Given the description of an element on the screen output the (x, y) to click on. 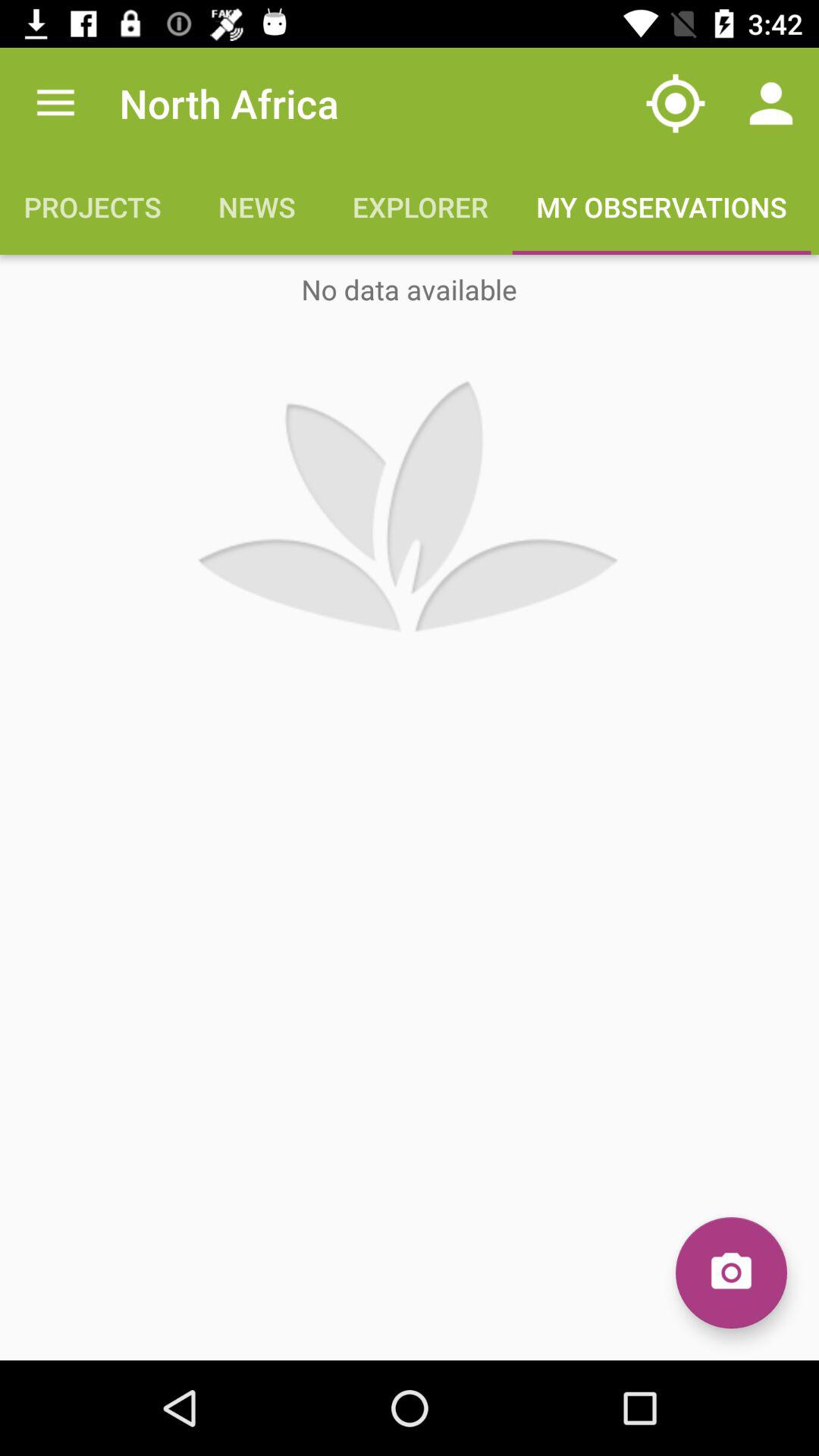
tap item below my observations (731, 1272)
